Given the description of an element on the screen output the (x, y) to click on. 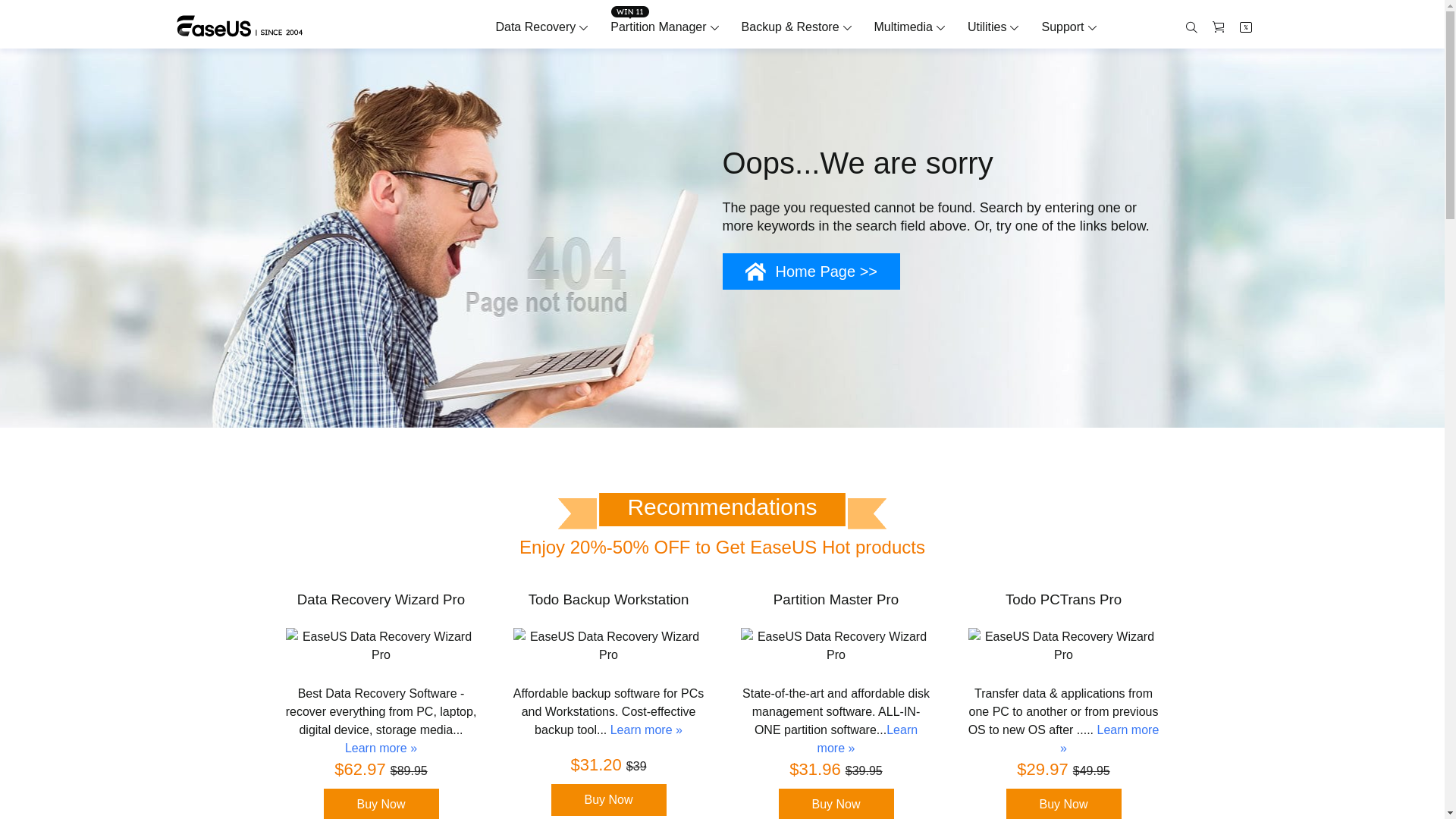
Data Recovery (534, 26)
Partition Manager (657, 26)
